Given the description of an element on the screen output the (x, y) to click on. 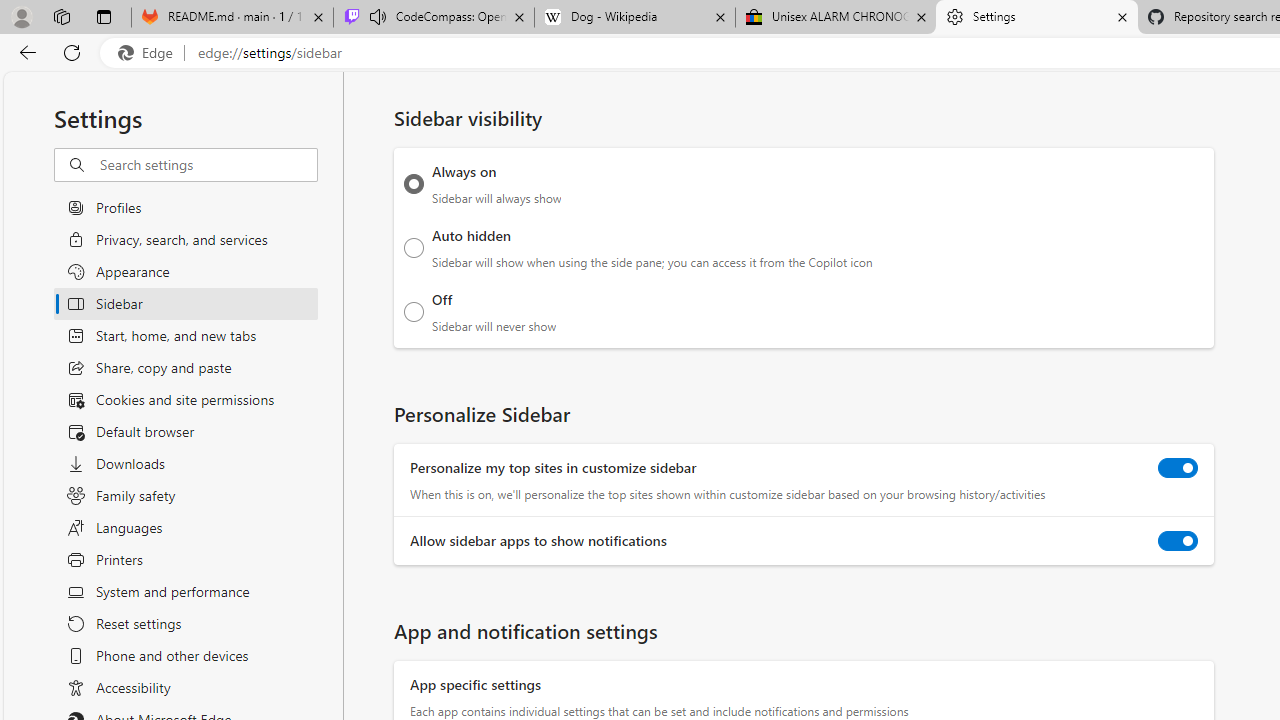
Always on Sidebar will always show (413, 183)
Allow sidebar apps to show notifications (1178, 540)
Edge (150, 53)
Search settings (207, 165)
Dog - Wikipedia (634, 17)
Mute tab (377, 16)
Personalize my top sites in customize sidebar (1178, 467)
